Given the description of an element on the screen output the (x, y) to click on. 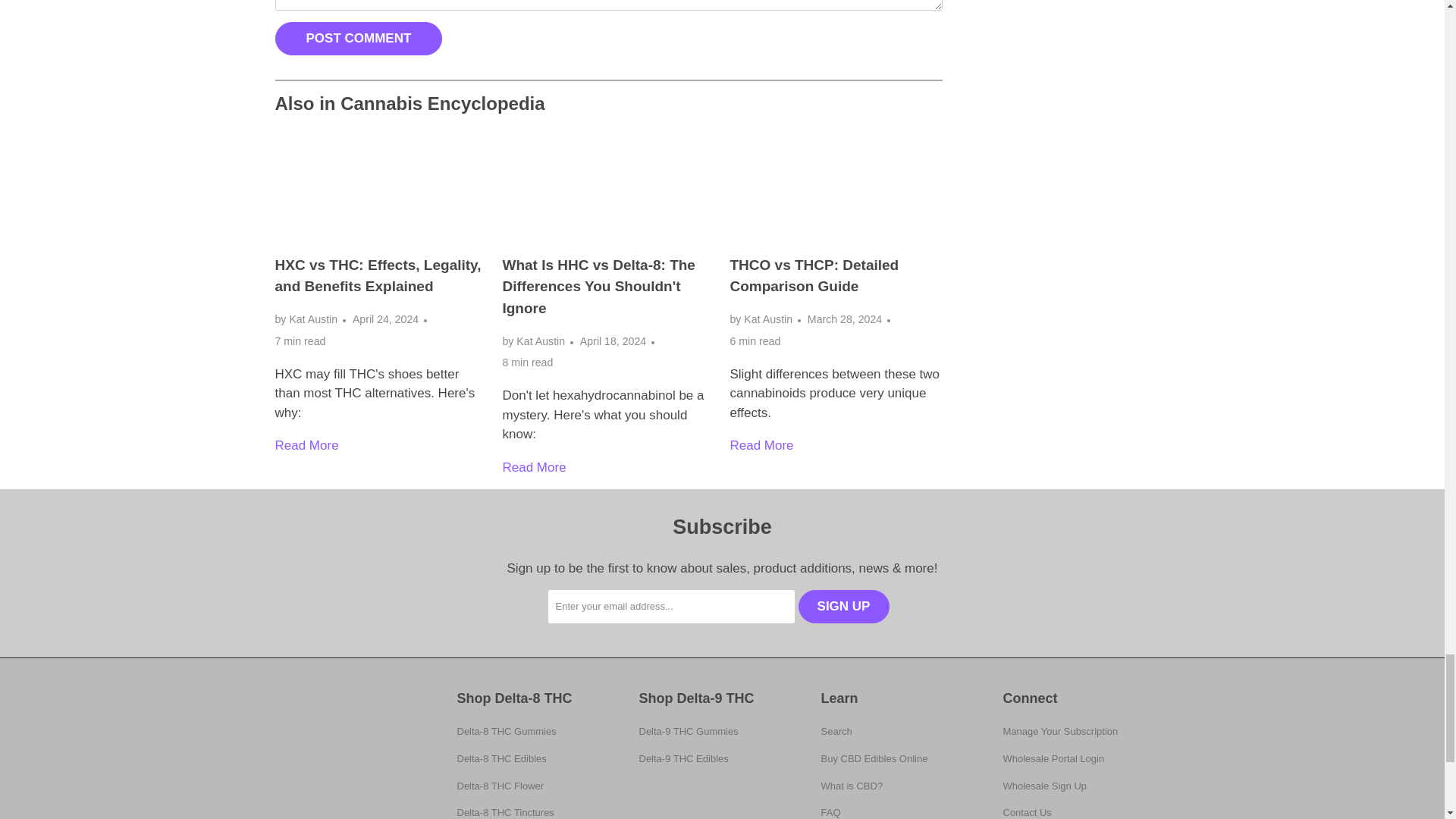
Sign Up (842, 606)
HXC vs THC: Effects, Legality, and Benefits Explained (380, 189)
HXC vs THC: Effects, Legality, and Benefits Explained (377, 275)
HXC vs THC: Effects, Legality, and Benefits Explained (306, 445)
Post comment (358, 38)
